Given the description of an element on the screen output the (x, y) to click on. 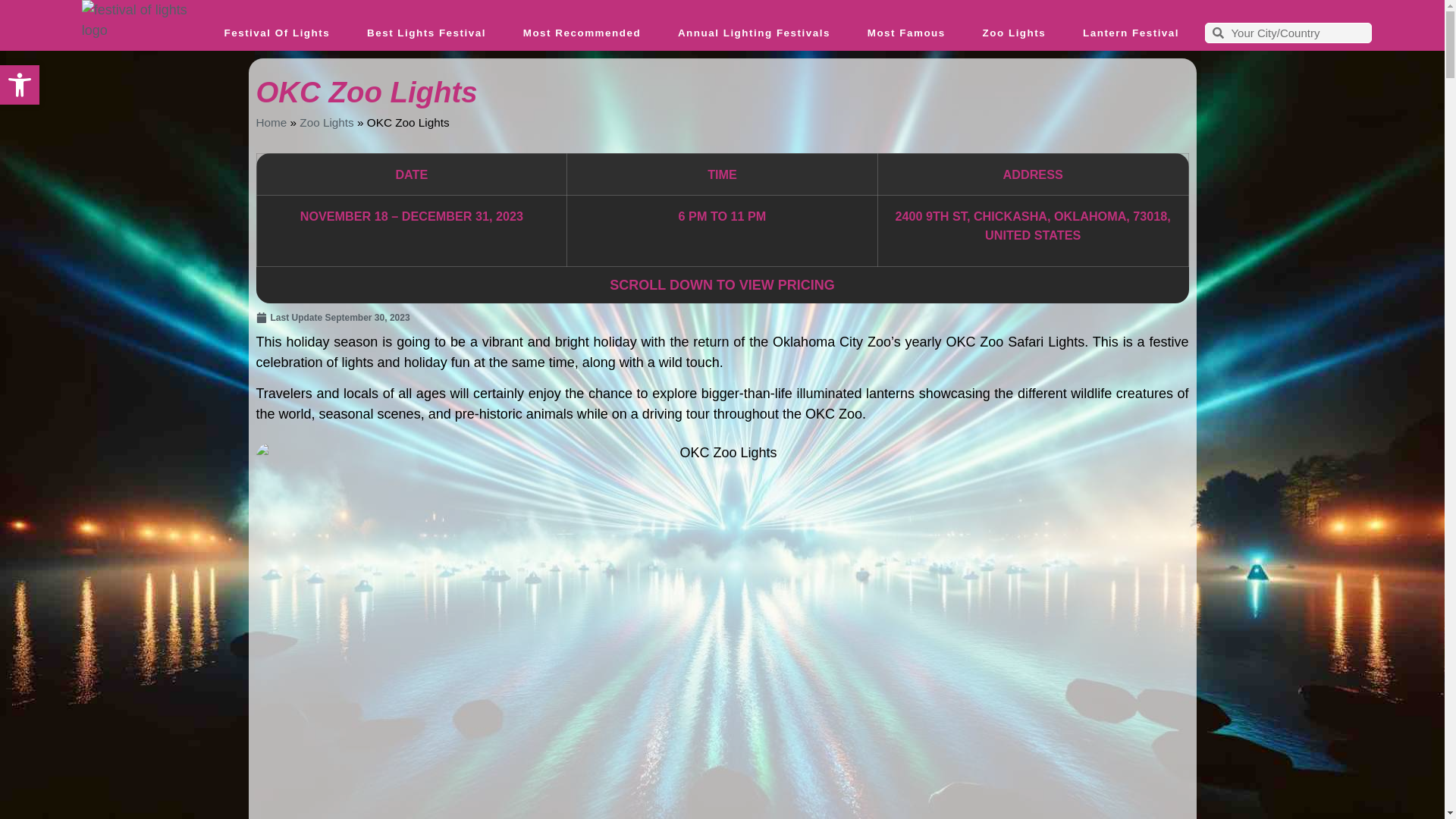
Annual Lighting Festivals (753, 32)
Most Famous (905, 32)
Festival Of Lights (277, 32)
Most Recommended (581, 32)
Accessibility Tools (19, 84)
Accessibility Tools (19, 84)
Best Lights Festival (427, 32)
